Given the description of an element on the screen output the (x, y) to click on. 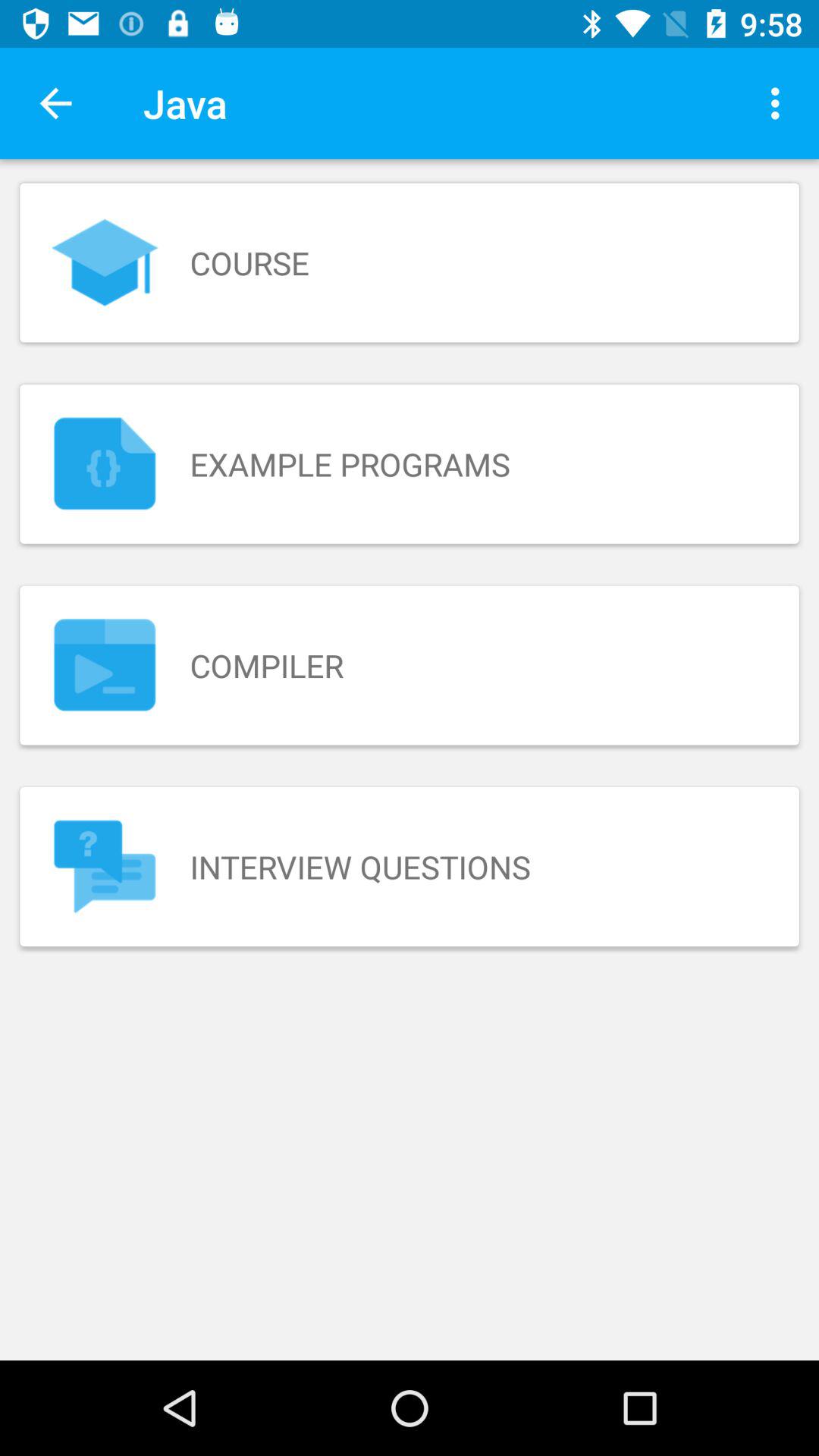
launch icon to the left of the java icon (55, 103)
